Given the description of an element on the screen output the (x, y) to click on. 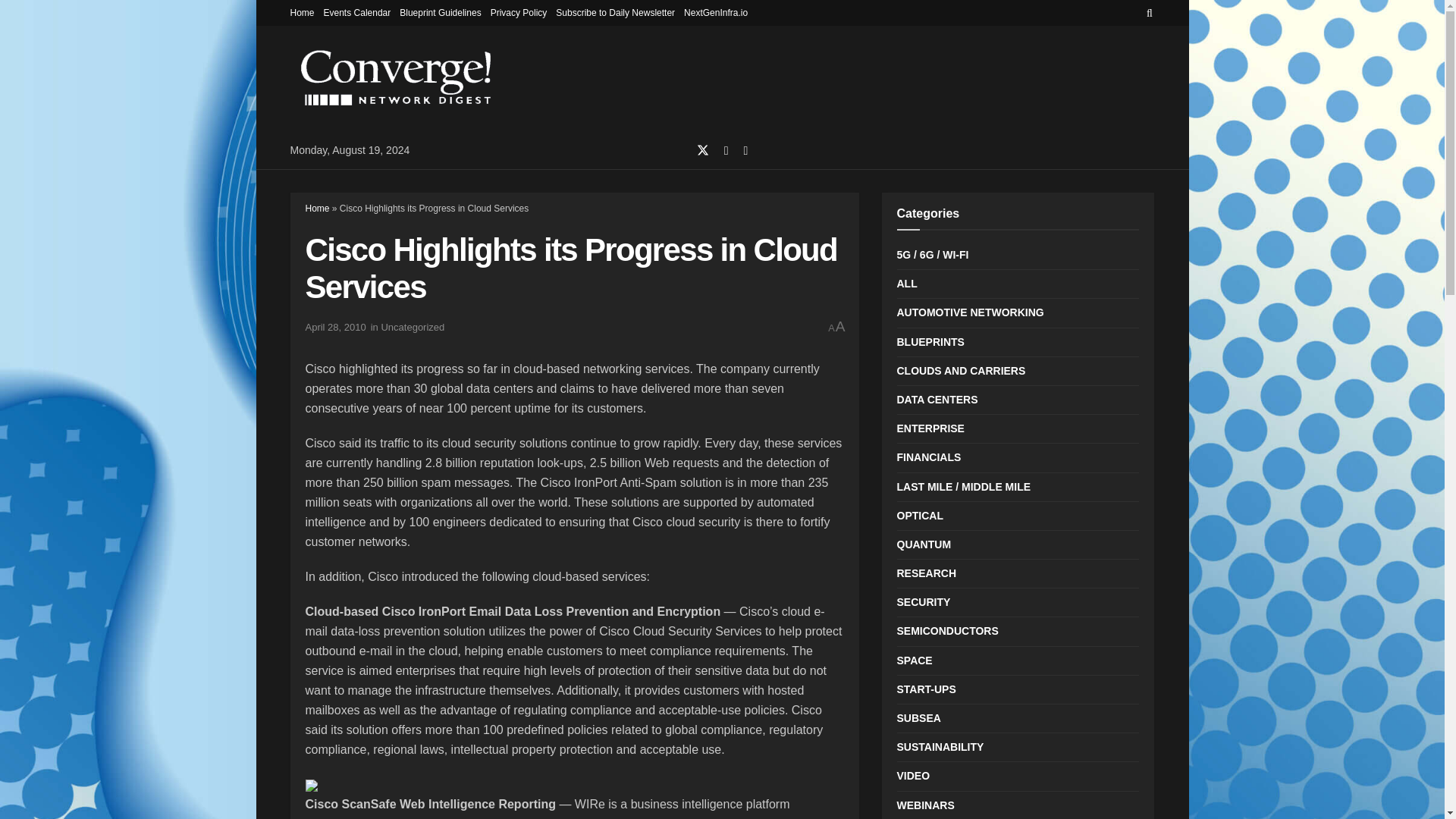
Privacy Policy (518, 12)
April 28, 2010 (334, 326)
Blueprint Guidelines (439, 12)
Events Calendar (357, 12)
NextGenInfra.io (716, 12)
Subscribe to Daily Newsletter (615, 12)
Home (316, 208)
Home (301, 12)
